Given the description of an element on the screen output the (x, y) to click on. 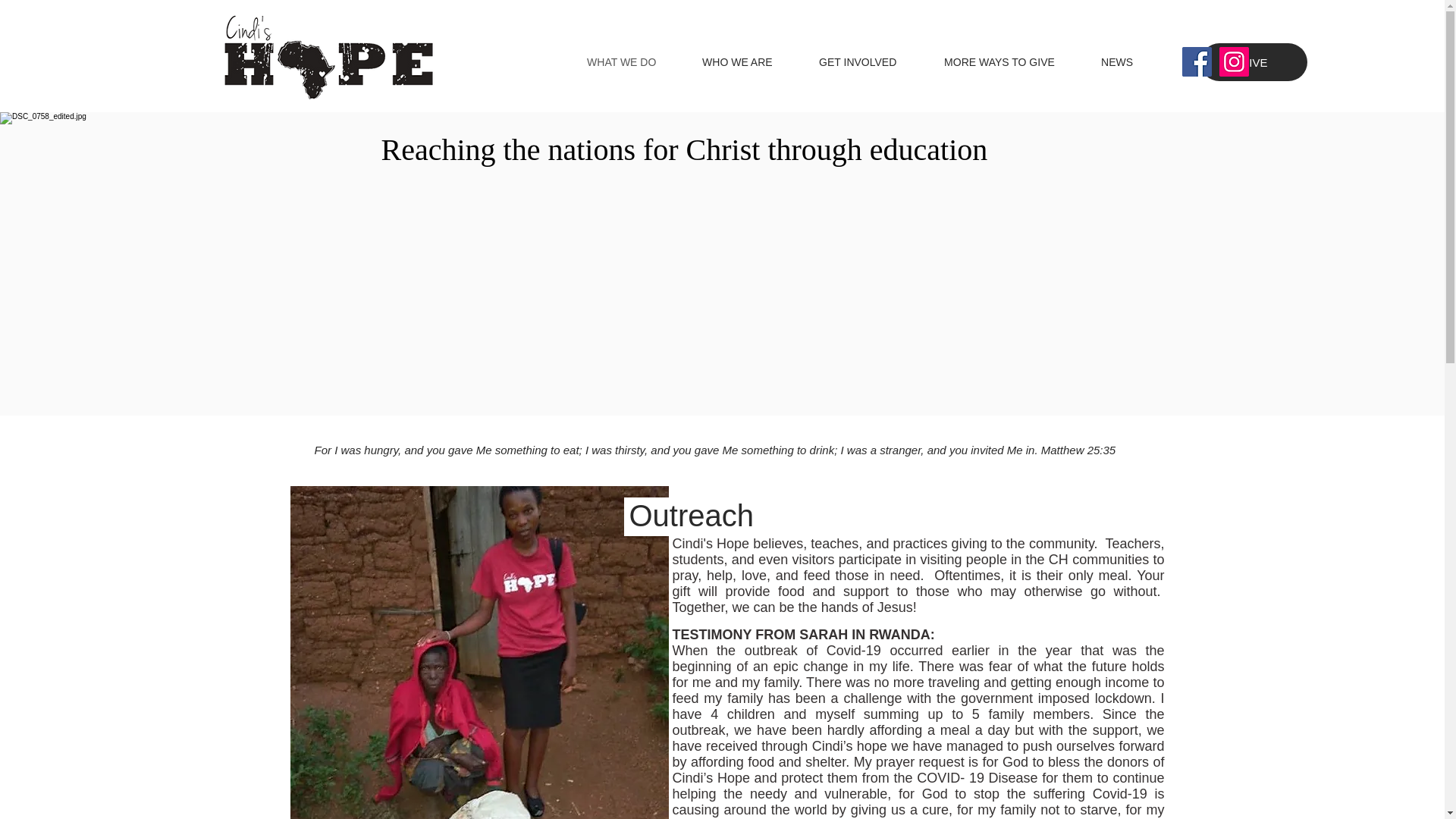
WHAT WE DO (636, 62)
MORE WAYS TO GIVE (1014, 62)
GIVE (1253, 62)
NEWS (1132, 62)
GET INVOLVED (873, 62)
WHO WE ARE (752, 62)
